Given the description of an element on the screen output the (x, y) to click on. 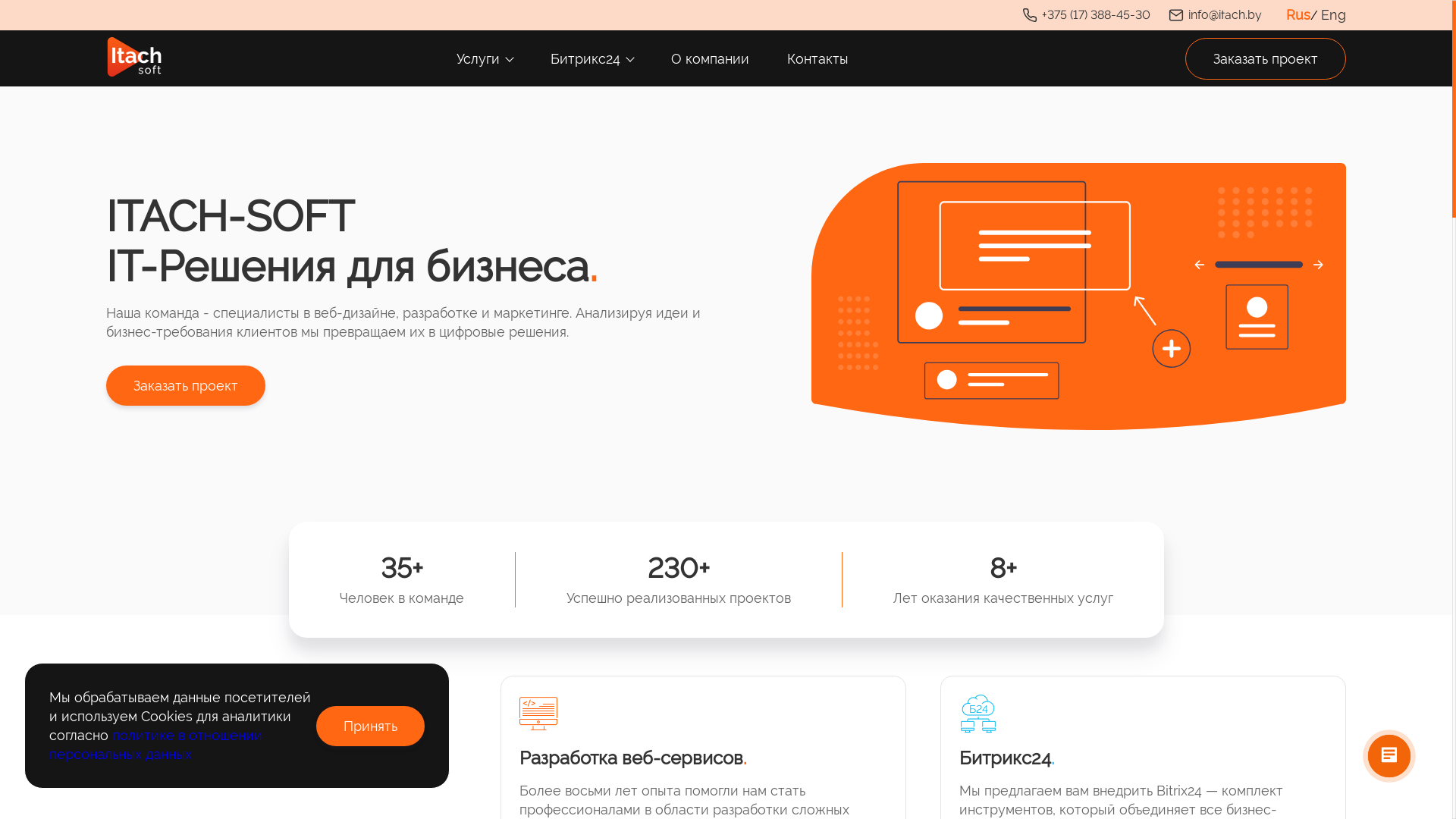
Eng Element type: text (1333, 14)
logo Element type: hover (134, 56)
+375 (17) 388-45-30 Element type: text (1086, 14)
info@itach.by Element type: text (1214, 14)
Rus Element type: text (1298, 14)
